Given the description of an element on the screen output the (x, y) to click on. 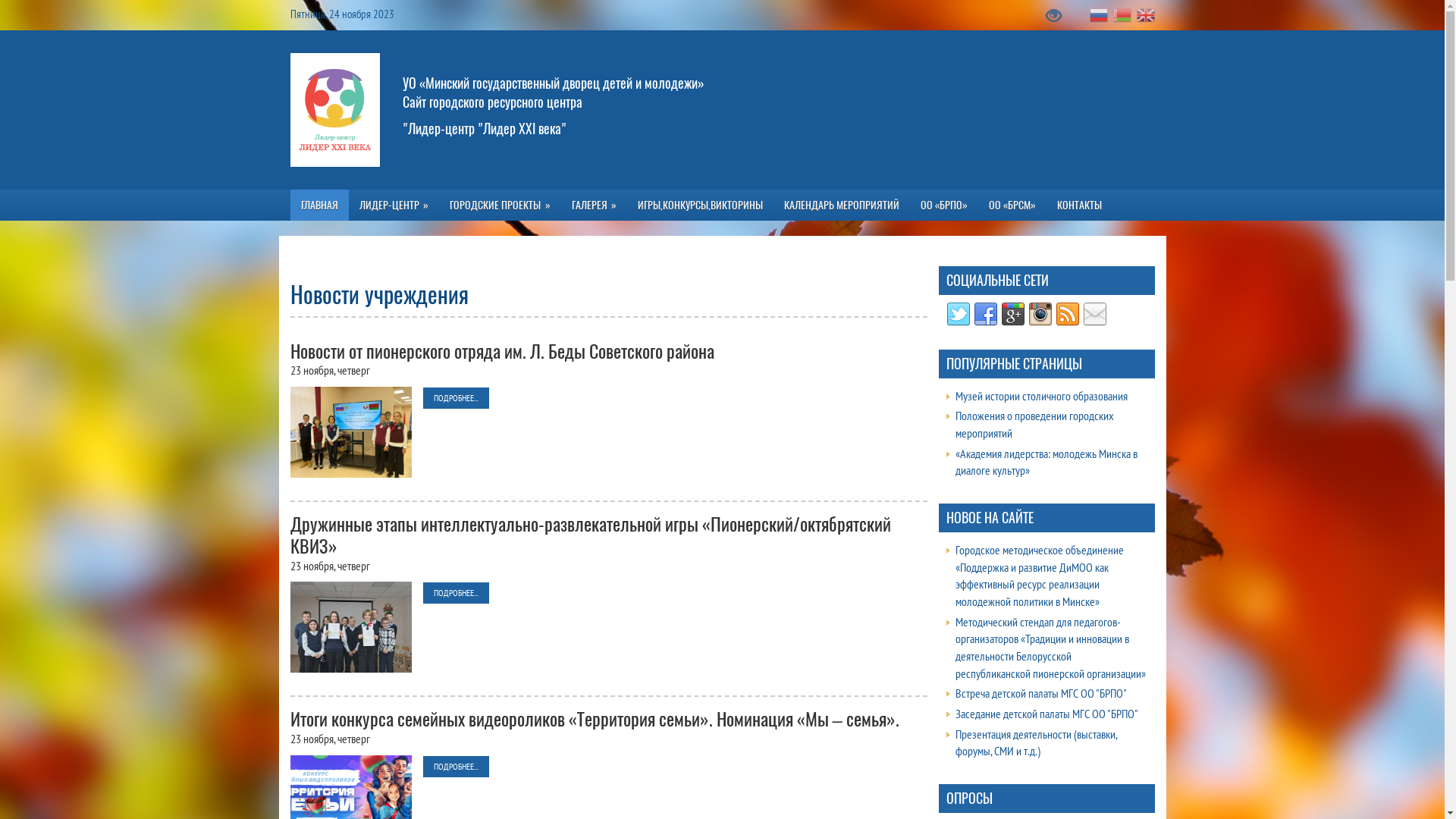
RSS Feed Element type: hover (1067, 313)
Twitter Element type: hover (958, 313)
Google Plus Element type: hover (1013, 313)
Email Element type: hover (1094, 313)
Facebook Element type: hover (985, 313)
Instagram Element type: hover (1040, 313)
